Given the description of an element on the screen output the (x, y) to click on. 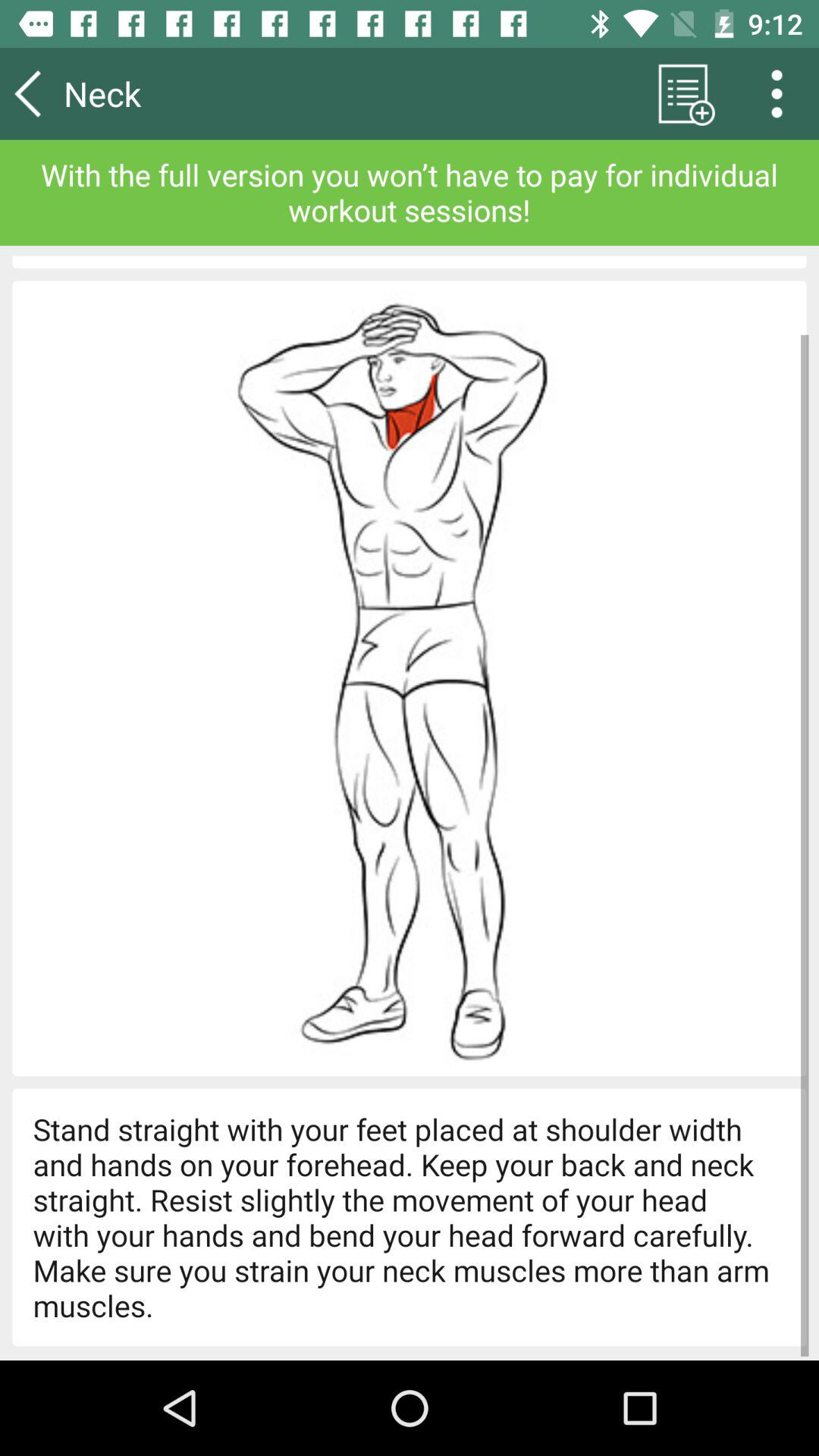
select icon next to neck icon (682, 93)
